Given the description of an element on the screen output the (x, y) to click on. 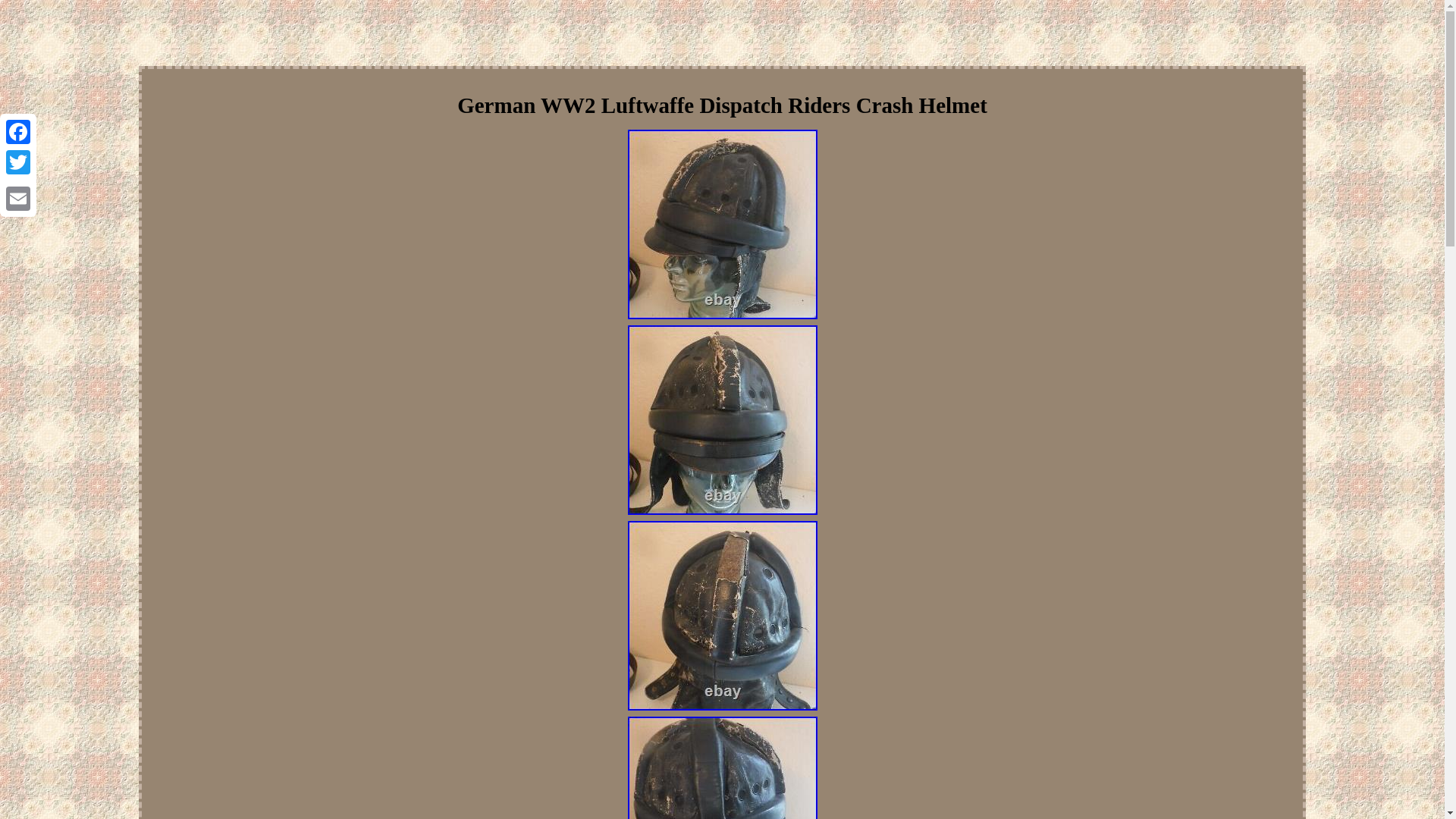
Twitter (17, 162)
German WW2 Luftwaffe Dispatch Riders Crash Helmet (721, 767)
German WW2 Luftwaffe Dispatch Riders Crash Helmet (721, 224)
German WW2 Luftwaffe Dispatch Riders Crash Helmet (721, 420)
Email (17, 198)
Facebook (17, 132)
German WW2 Luftwaffe Dispatch Riders Crash Helmet (721, 615)
